Given the description of an element on the screen output the (x, y) to click on. 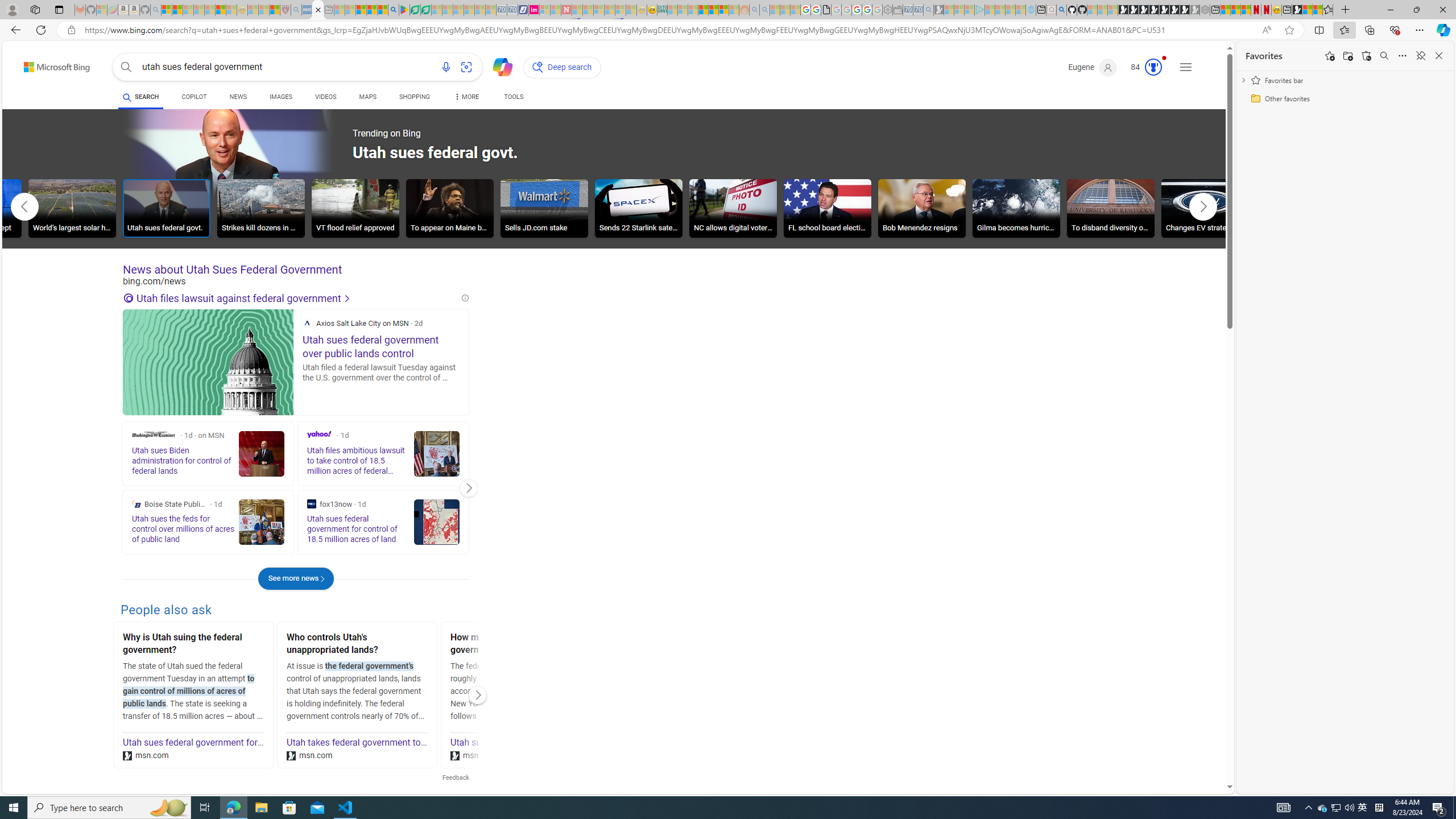
COPILOT (193, 98)
See more news (295, 578)
Restore deleted favorites (1366, 55)
AutomationID: mfa_root (1186, 752)
Add folder (1347, 55)
Utah sues federal govt. (166, 207)
NC allows digital voter ID (732, 209)
